Given the description of an element on the screen output the (x, y) to click on. 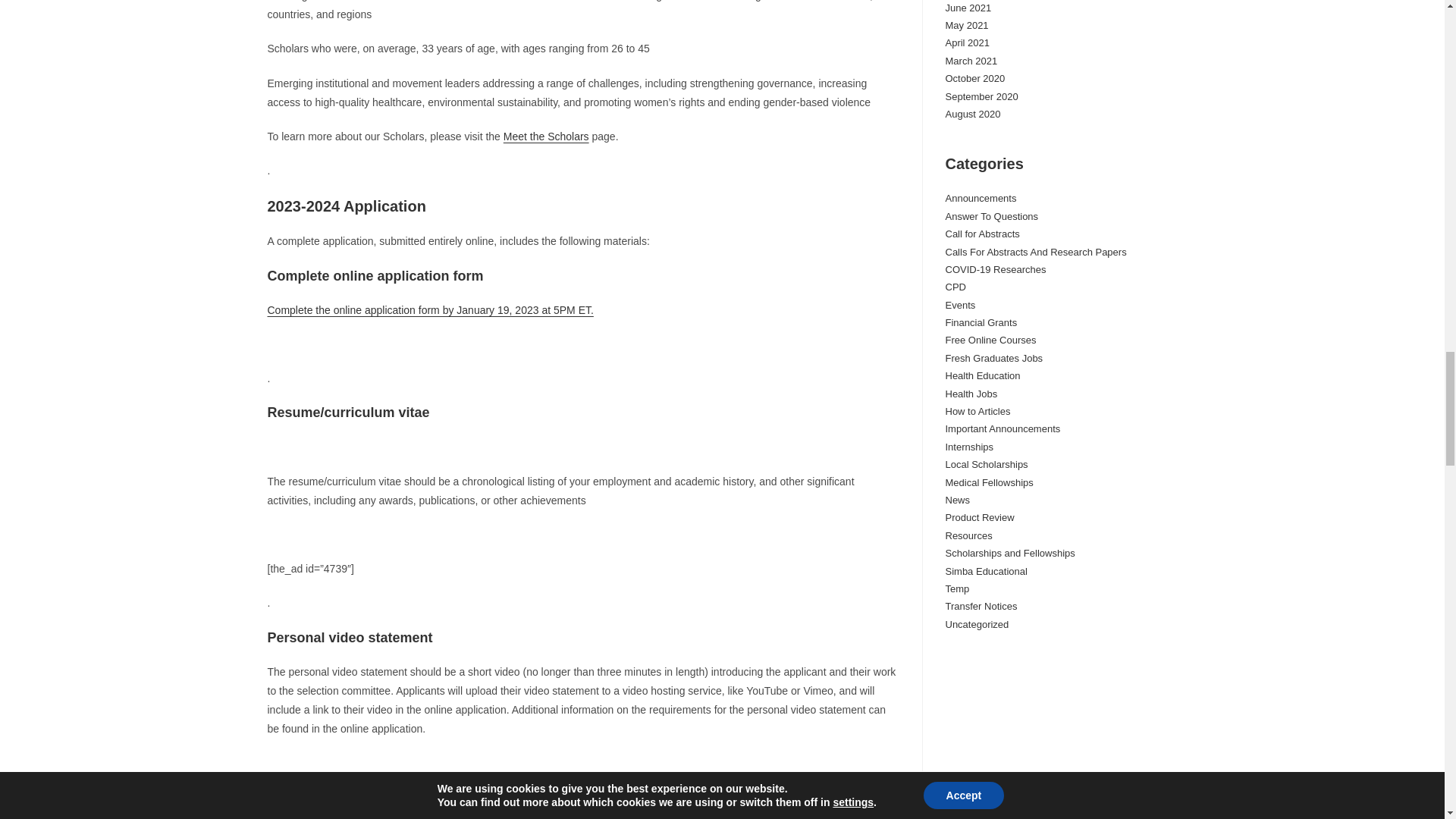
Meet the Scholars (546, 136)
